Given the description of an element on the screen output the (x, y) to click on. 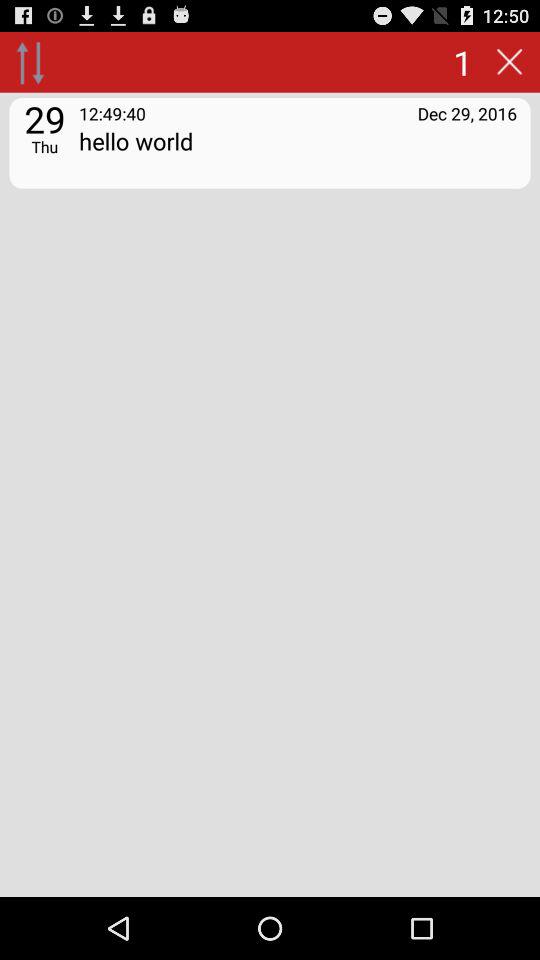
click the icon to the left of hello world app (44, 146)
